Given the description of an element on the screen output the (x, y) to click on. 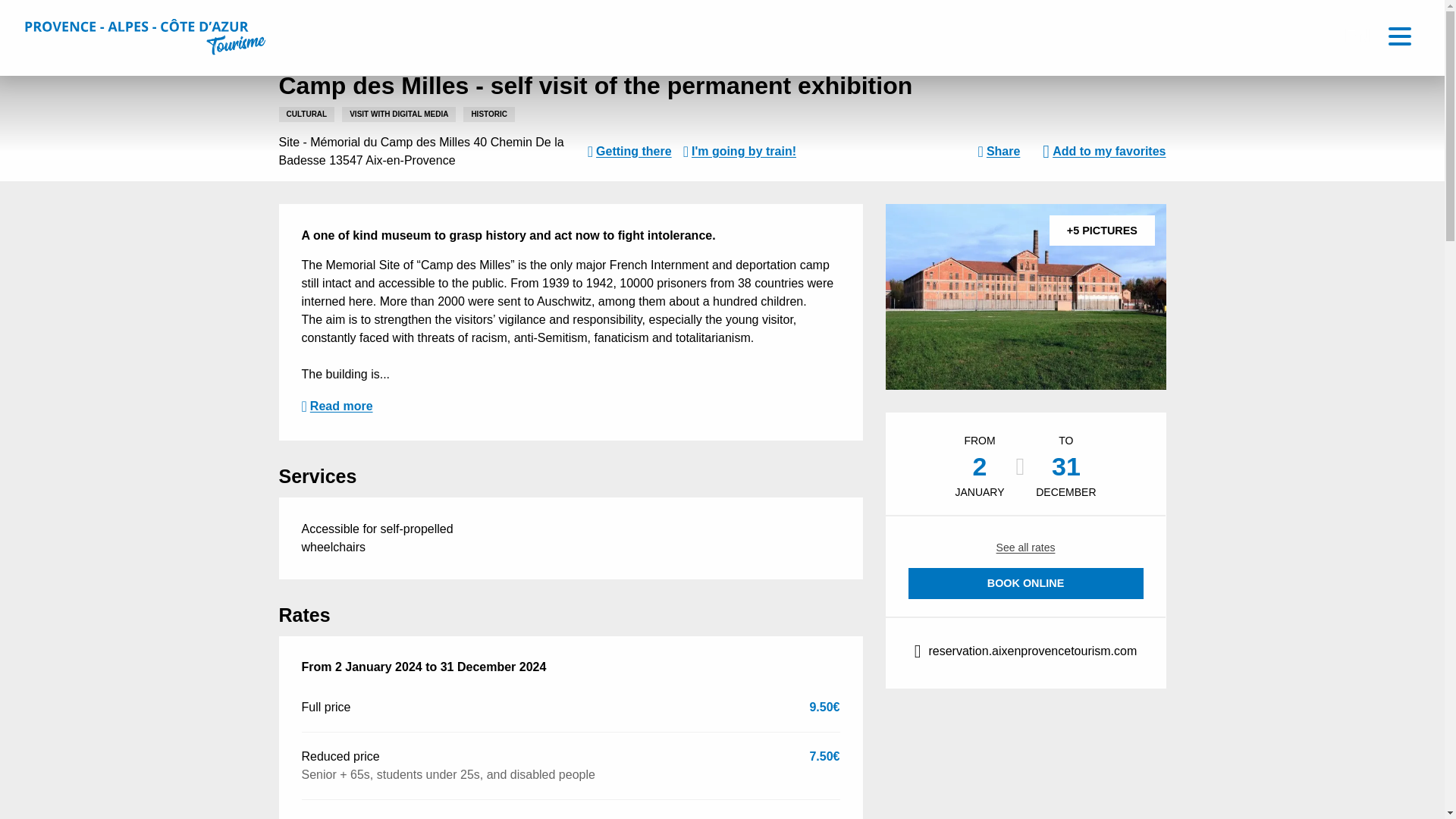
Getting there (629, 151)
I'm going by train! (739, 151)
Add to my favorites (1109, 151)
Home (292, 19)
Share (999, 151)
See all rates (1025, 547)
Things to do (347, 19)
BOOK ONLINE (1025, 583)
All Events (502, 19)
